Given the description of an element on the screen output the (x, y) to click on. 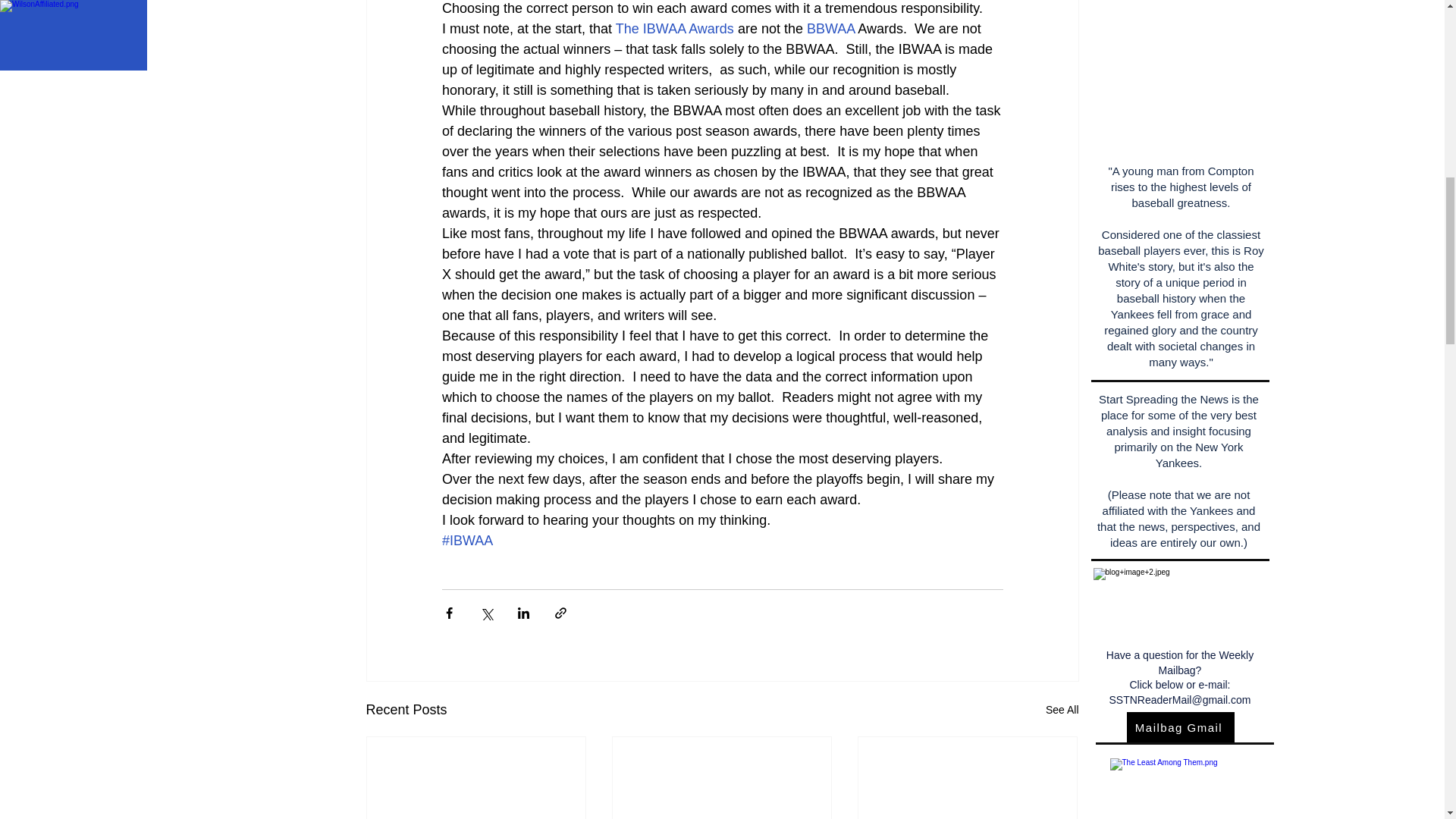
The IBWAA Awards  (675, 28)
BBWAA (829, 28)
See All (1061, 710)
